Given the description of an element on the screen output the (x, y) to click on. 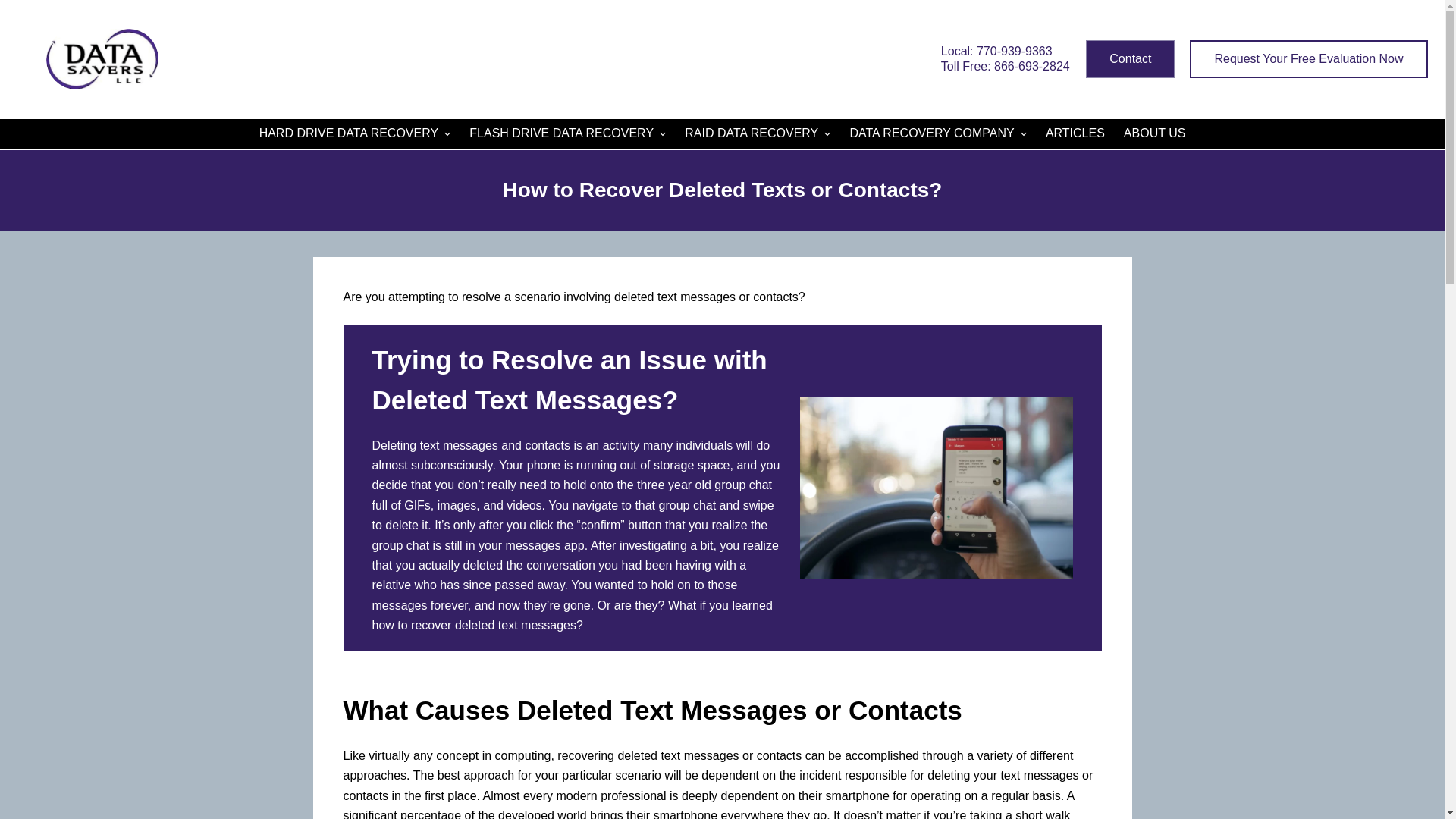
How to Recover Deleted Texts or Contacts? (722, 190)
Skip to content (15, 7)
Local: 770-939-9363 (996, 51)
Toll Free: 866-693-2824 (1005, 65)
Contact (1130, 58)
Request Your Free Evaluation Now (1307, 58)
HARD DRIVE DATA RECOVERY (354, 133)
